Given the description of an element on the screen output the (x, y) to click on. 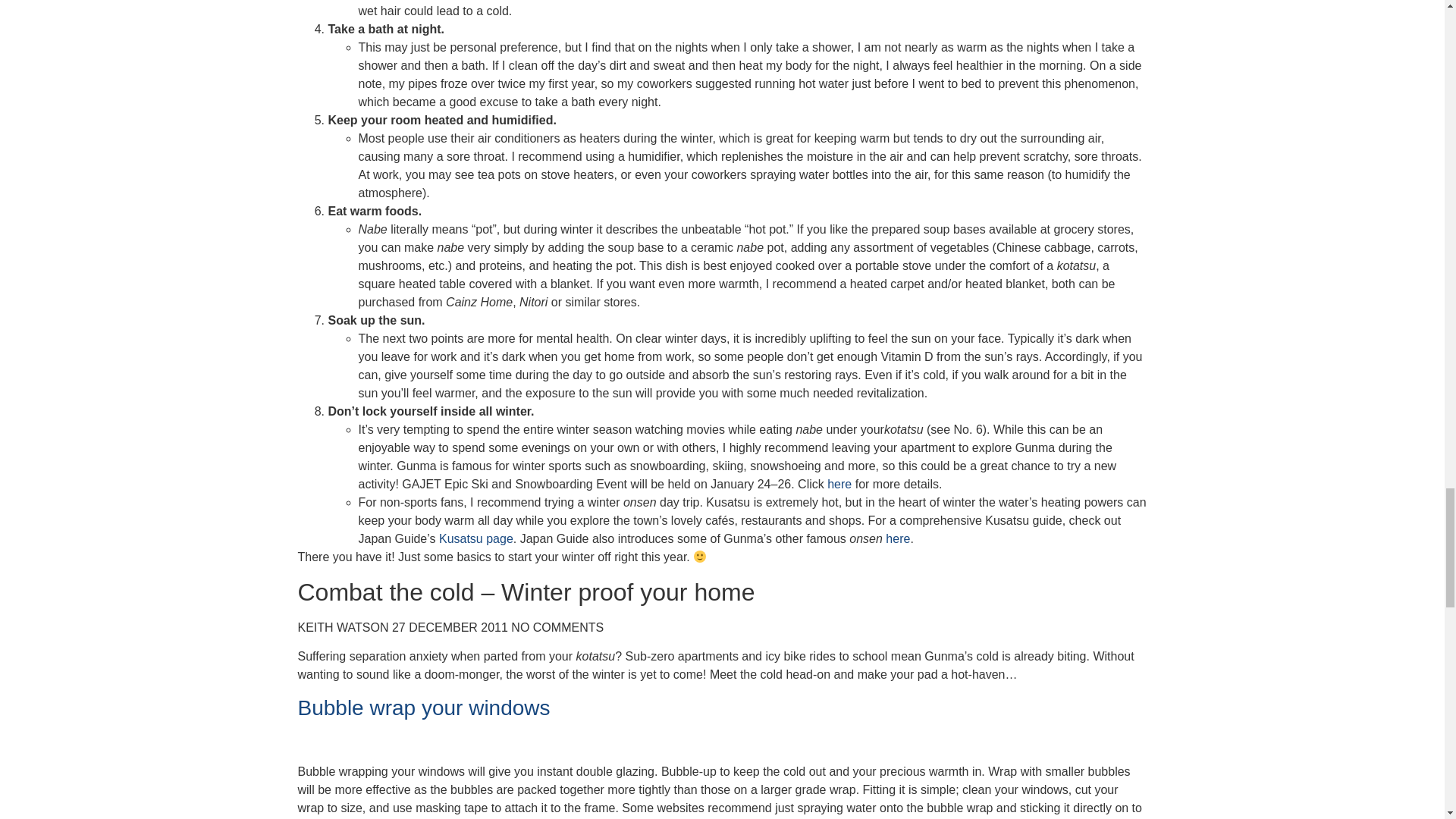
Kusatsu page (476, 538)
here (839, 483)
here (897, 538)
